Given the description of an element on the screen output the (x, y) to click on. 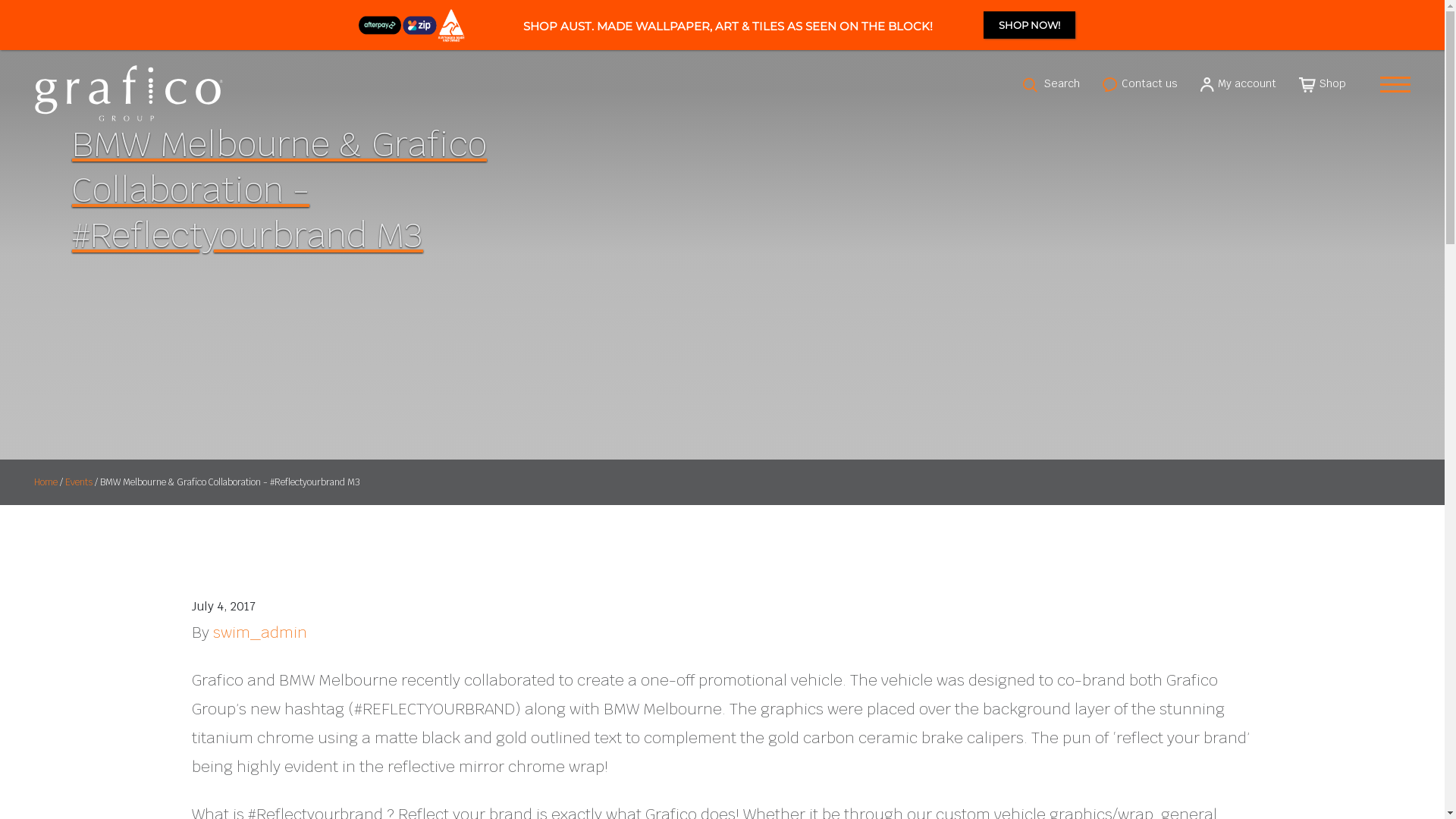
Home Element type: text (45, 482)
My account Element type: text (1238, 83)
Contact us Element type: text (1139, 83)
Events Element type: text (78, 482)
swim_admin Element type: text (259, 632)
Shop Element type: text (1322, 83)
Search Element type: text (1050, 83)
